Given the description of an element on the screen output the (x, y) to click on. 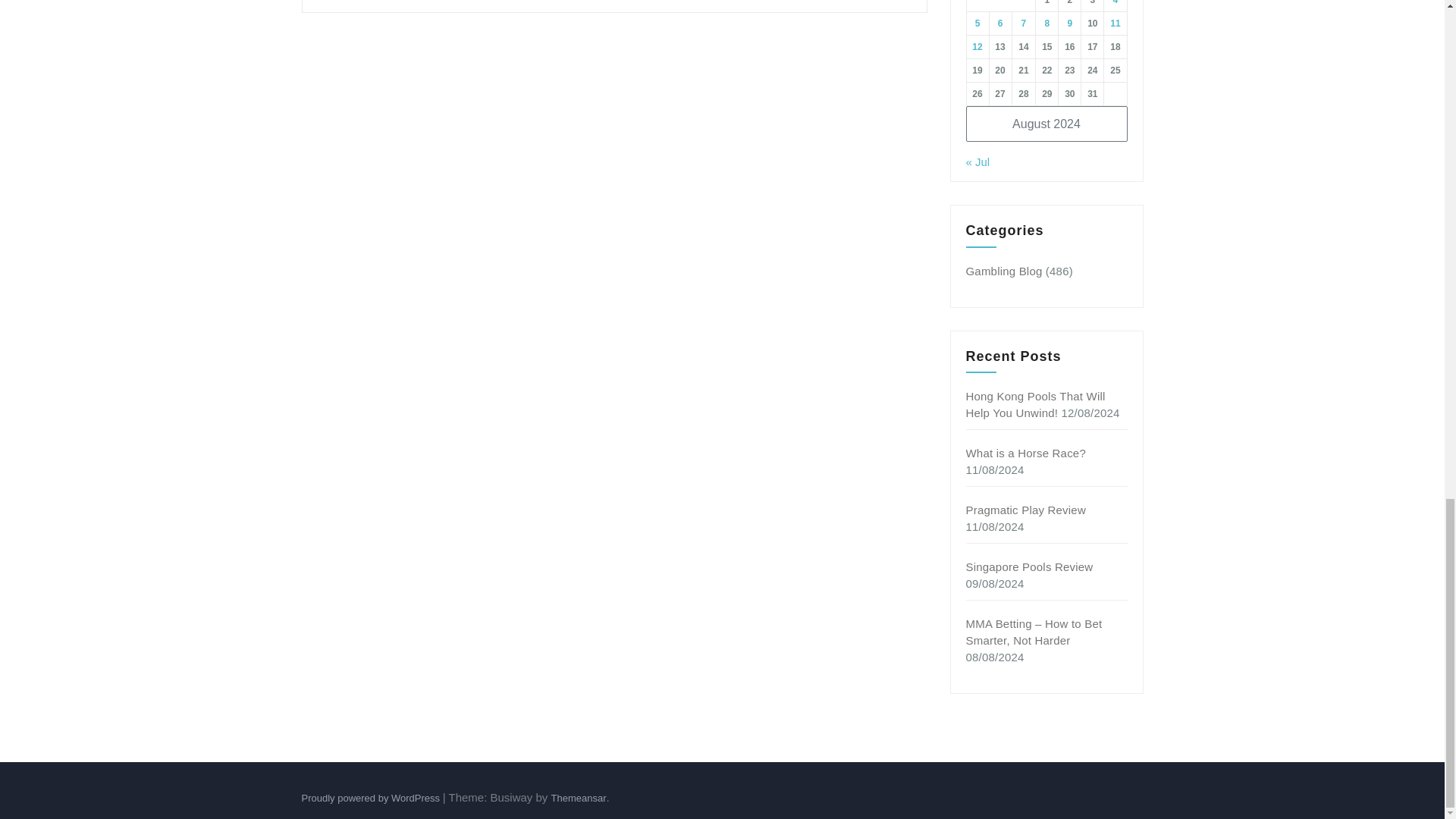
11 (1114, 23)
12 (976, 46)
